Given the description of an element on the screen output the (x, y) to click on. 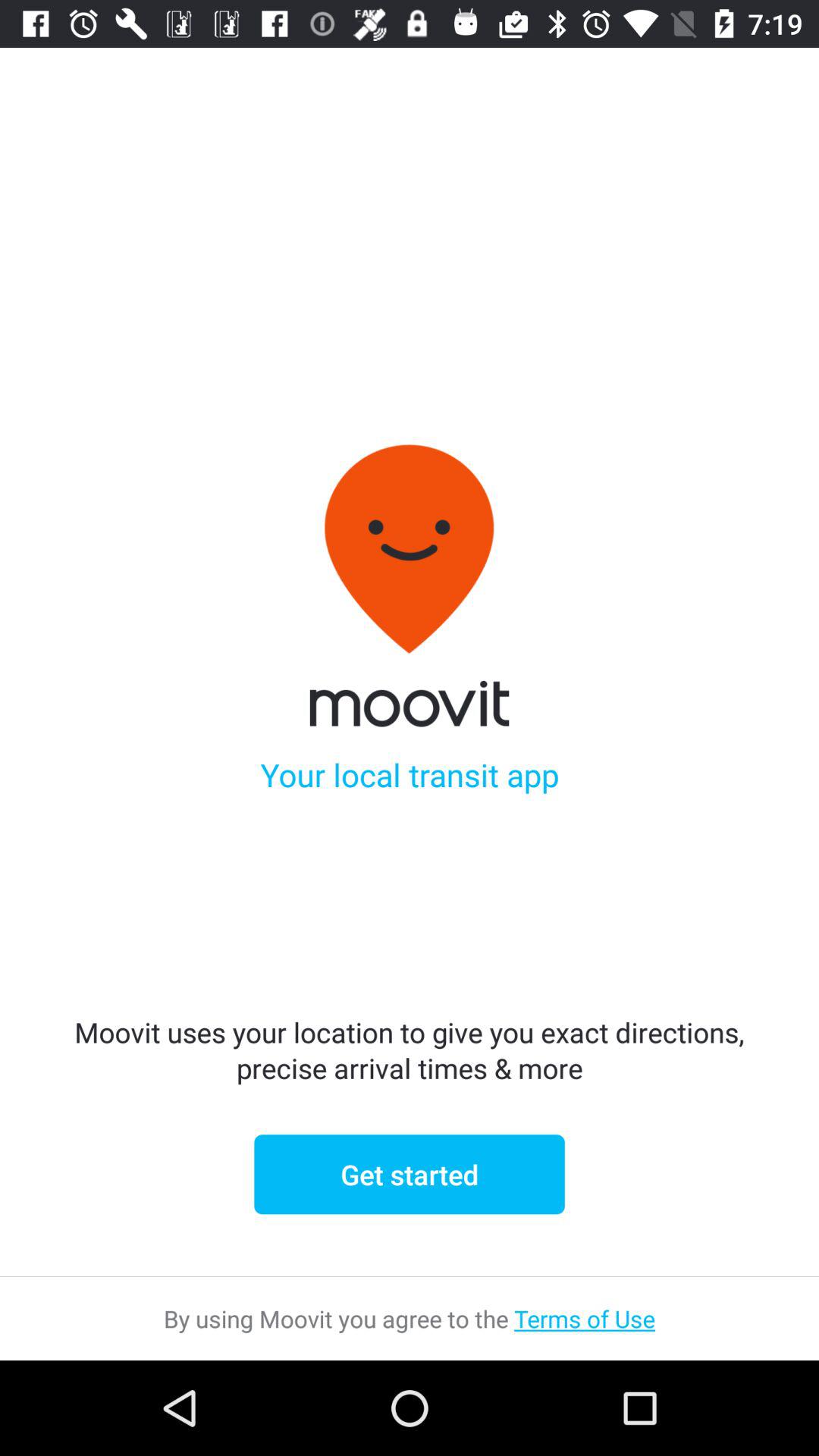
open icon below moovit uses your (409, 1174)
